Given the description of an element on the screen output the (x, y) to click on. 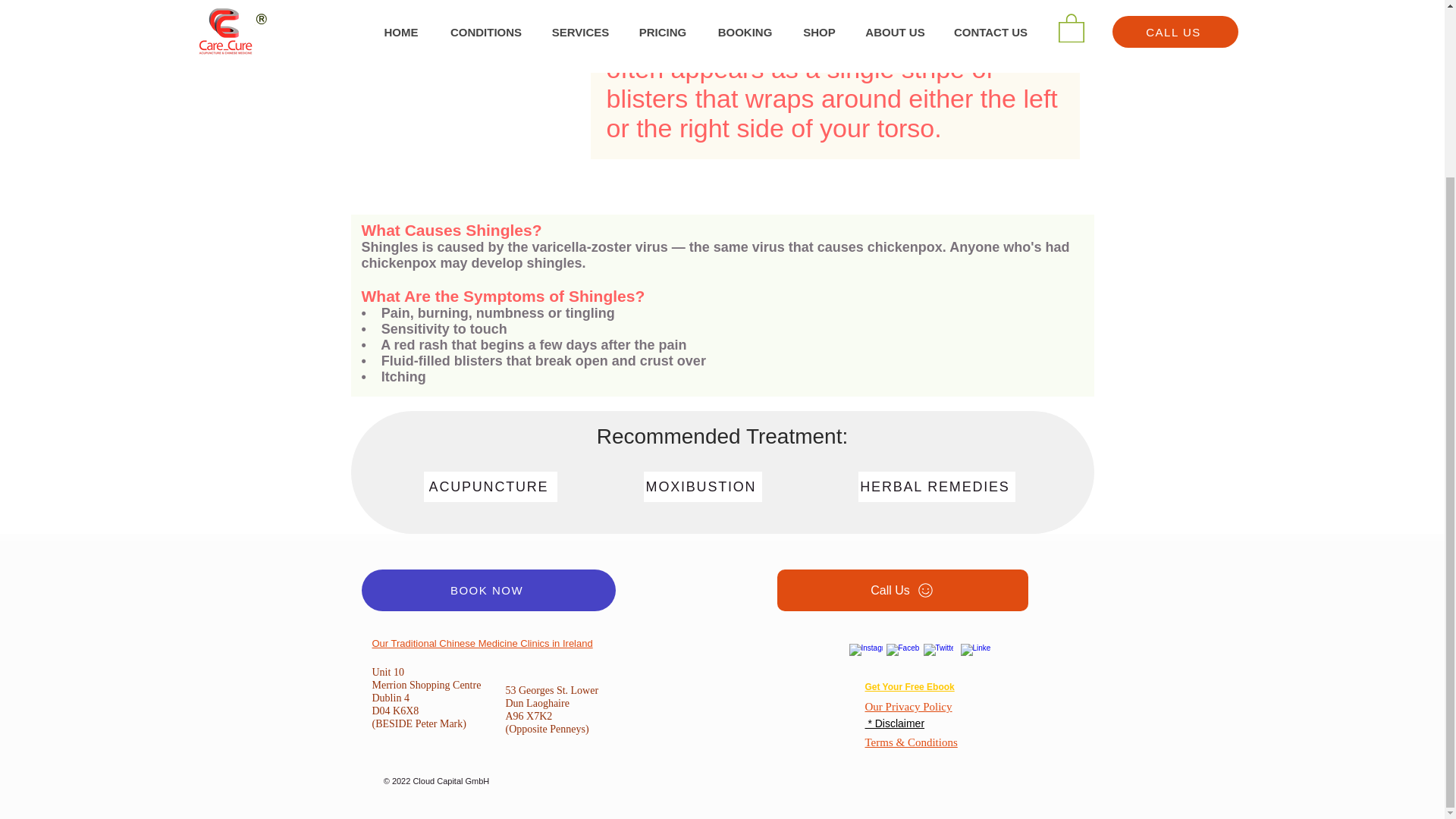
HERBAL REMEDIES (936, 486)
MOXIBUSTION (702, 486)
Call Us (901, 589)
ACUPUNCTURE (489, 486)
BOOK NOW (487, 589)
